Given the description of an element on the screen output the (x, y) to click on. 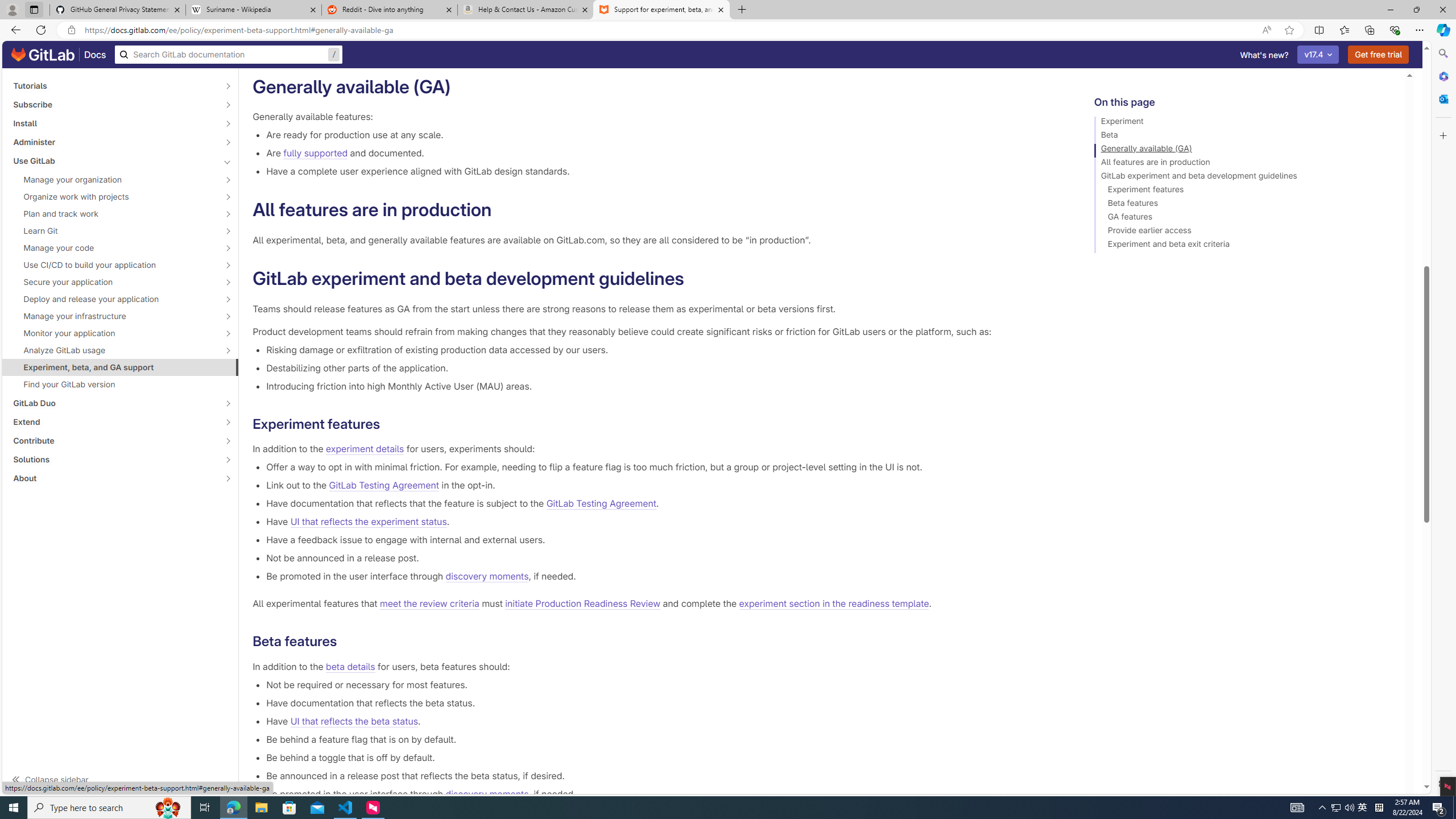
Beta features (1244, 205)
Manage your code (113, 247)
Learn Git (113, 230)
experiment details (365, 449)
Experiment features (1244, 191)
Not be announced in a release post. (662, 558)
GitHub General Privacy Statement - GitHub Docs (117, 9)
Use CI/CD to build your application (113, 264)
